Given the description of an element on the screen output the (x, y) to click on. 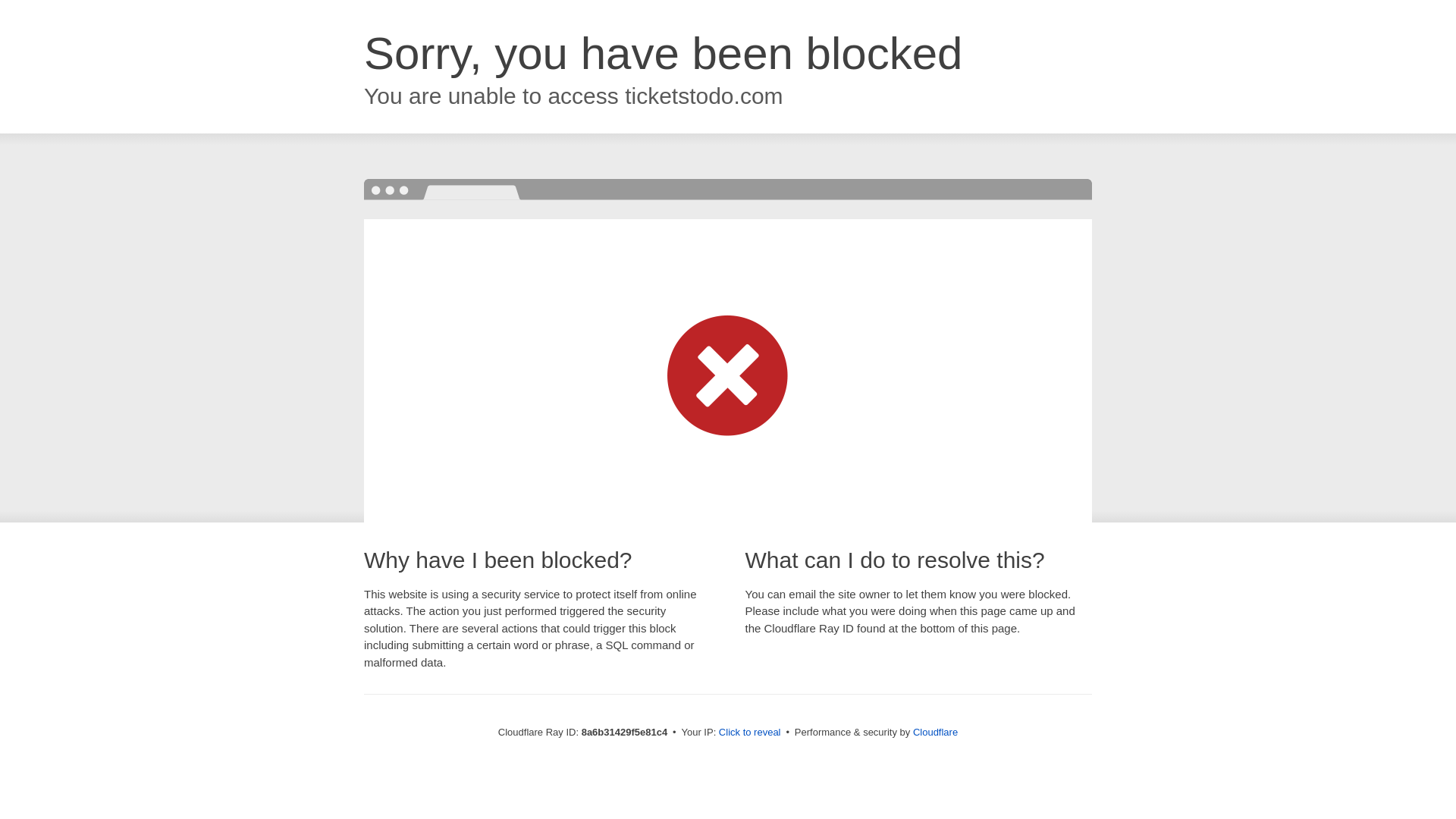
Click to reveal (749, 732)
Cloudflare (935, 731)
